Given the description of an element on the screen output the (x, y) to click on. 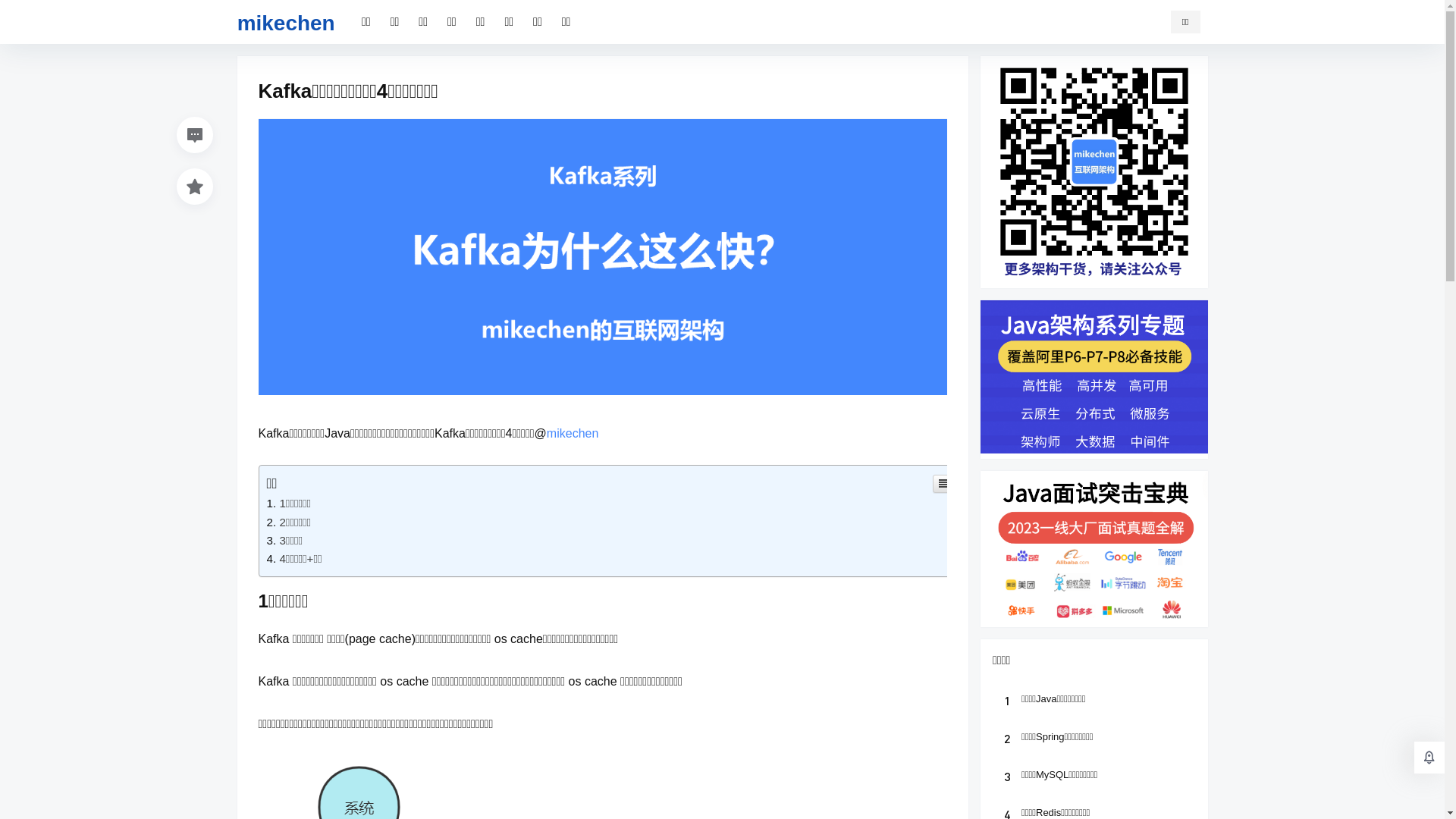
mikechen Element type: text (572, 432)
